Given the description of an element on the screen output the (x, y) to click on. 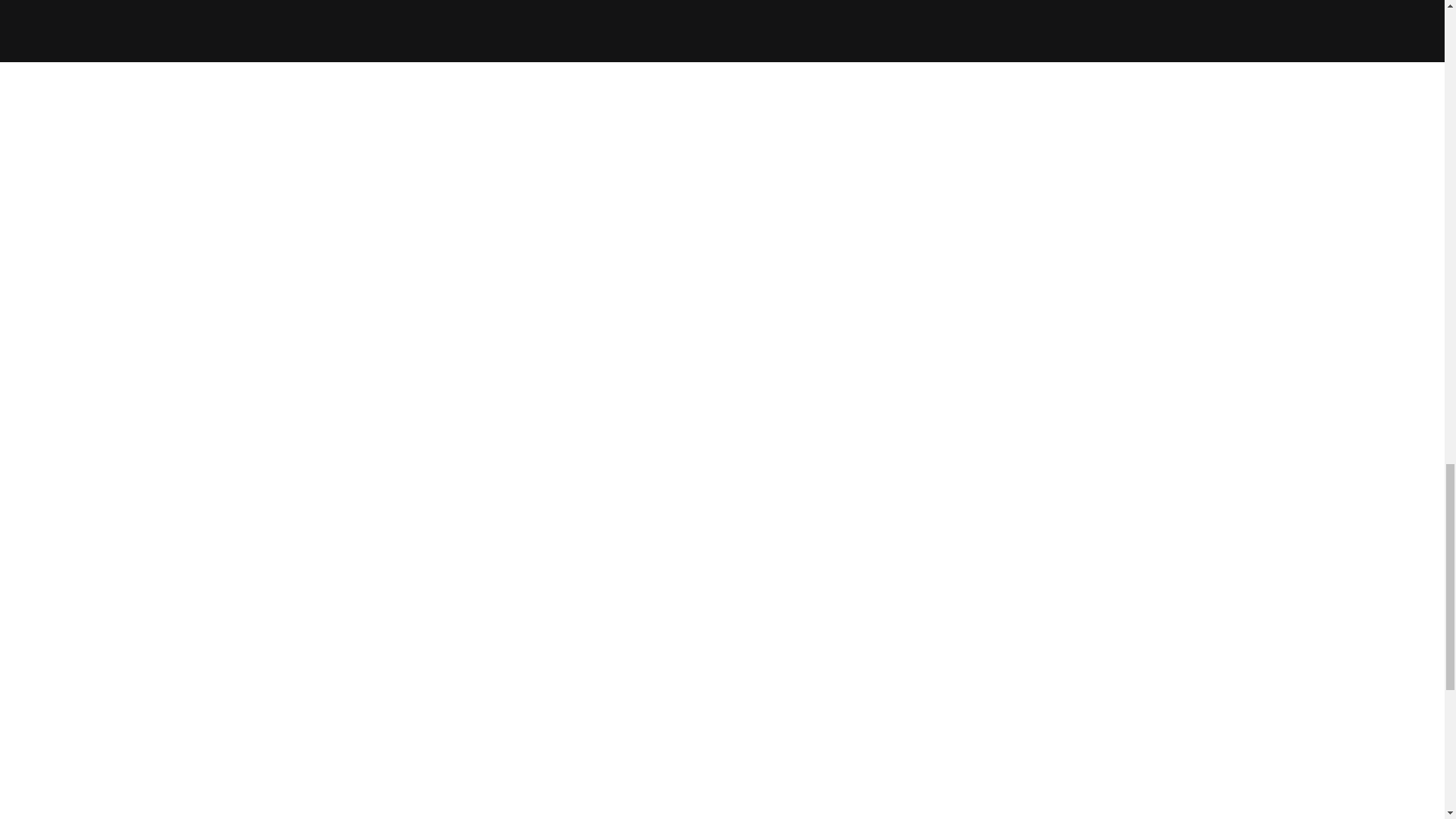
Red Wine (388, 522)
Mixed Cases (388, 564)
Terms of Use (834, 584)
Wine Clubs (388, 584)
Vinofiles (611, 502)
All Wines (388, 502)
Returns (834, 502)
White Wine (388, 543)
Events (611, 522)
Facebook (1055, 502)
